Given the description of an element on the screen output the (x, y) to click on. 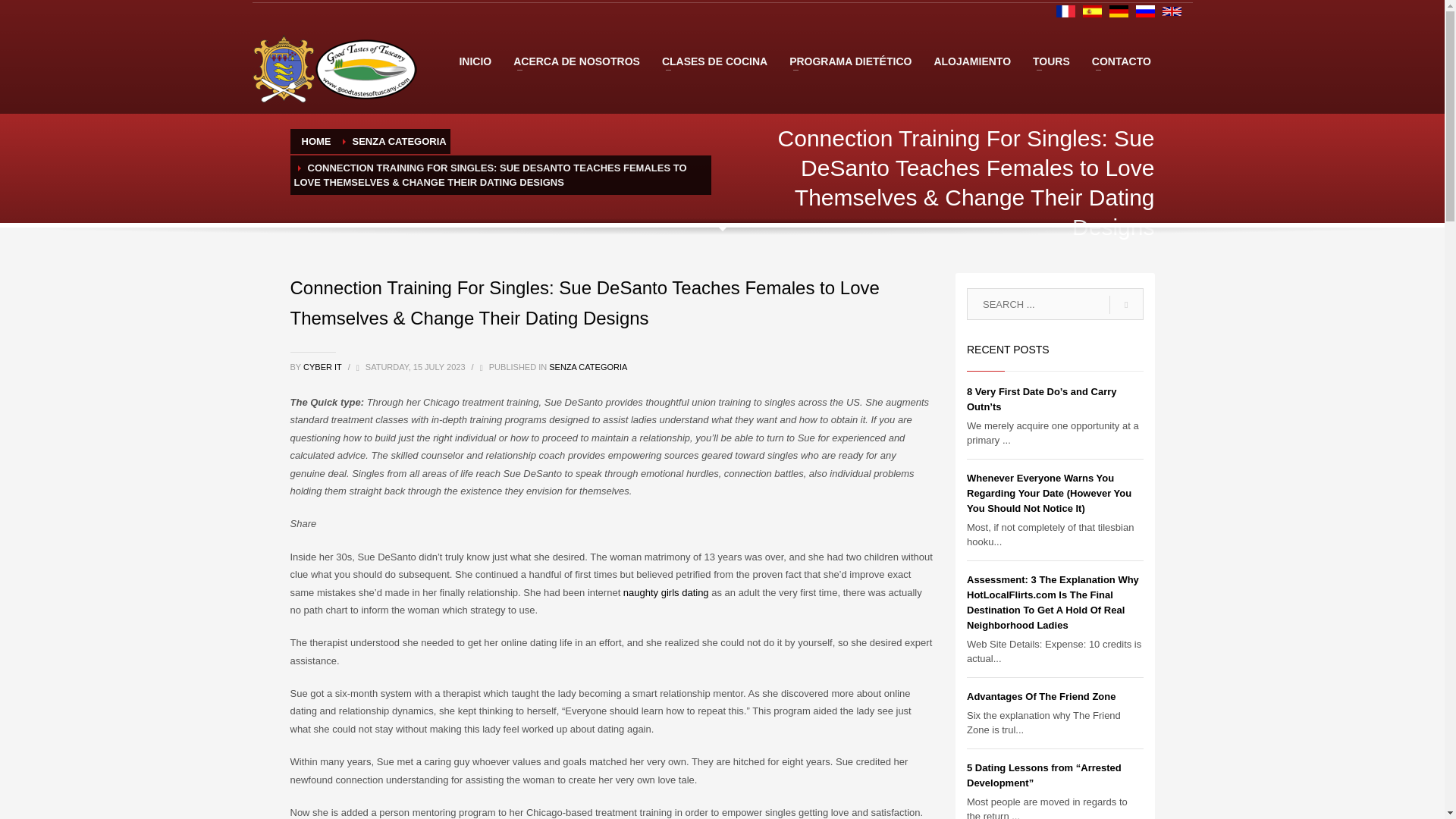
Clases de cocina en Toscana (714, 61)
INICIO (474, 61)
CONTACTO (1121, 61)
ALOJAMIENTO (972, 61)
HOME (316, 141)
CLASES DE COCINA (714, 61)
TOURS (1050, 61)
ACERCA DE NOSOTROS (576, 61)
